Given the description of an element on the screen output the (x, y) to click on. 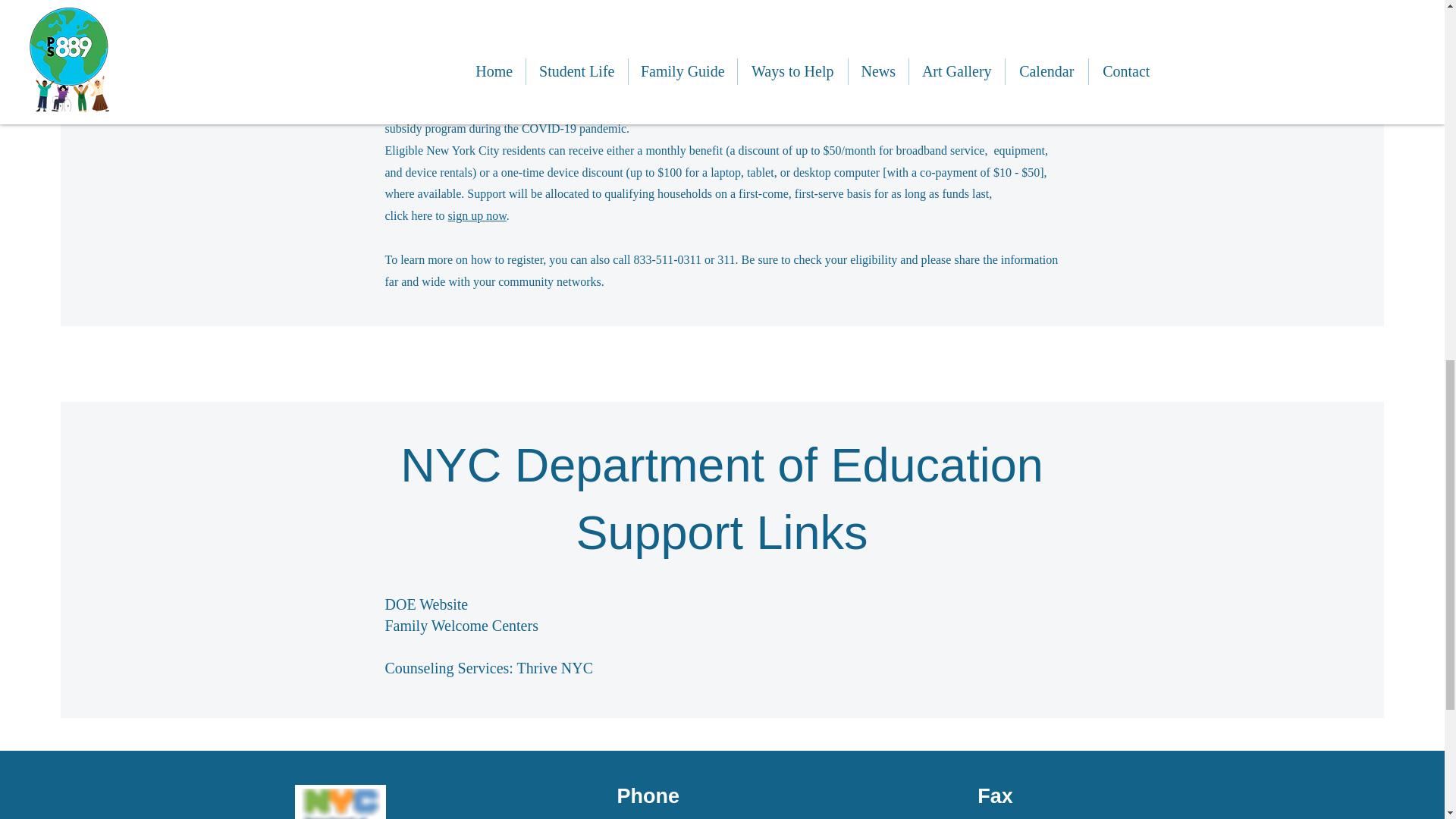
DOE Website (426, 604)
Thrive NYC (555, 668)
Family Welcome Centers (461, 625)
sign up now (477, 215)
